Given the description of an element on the screen output the (x, y) to click on. 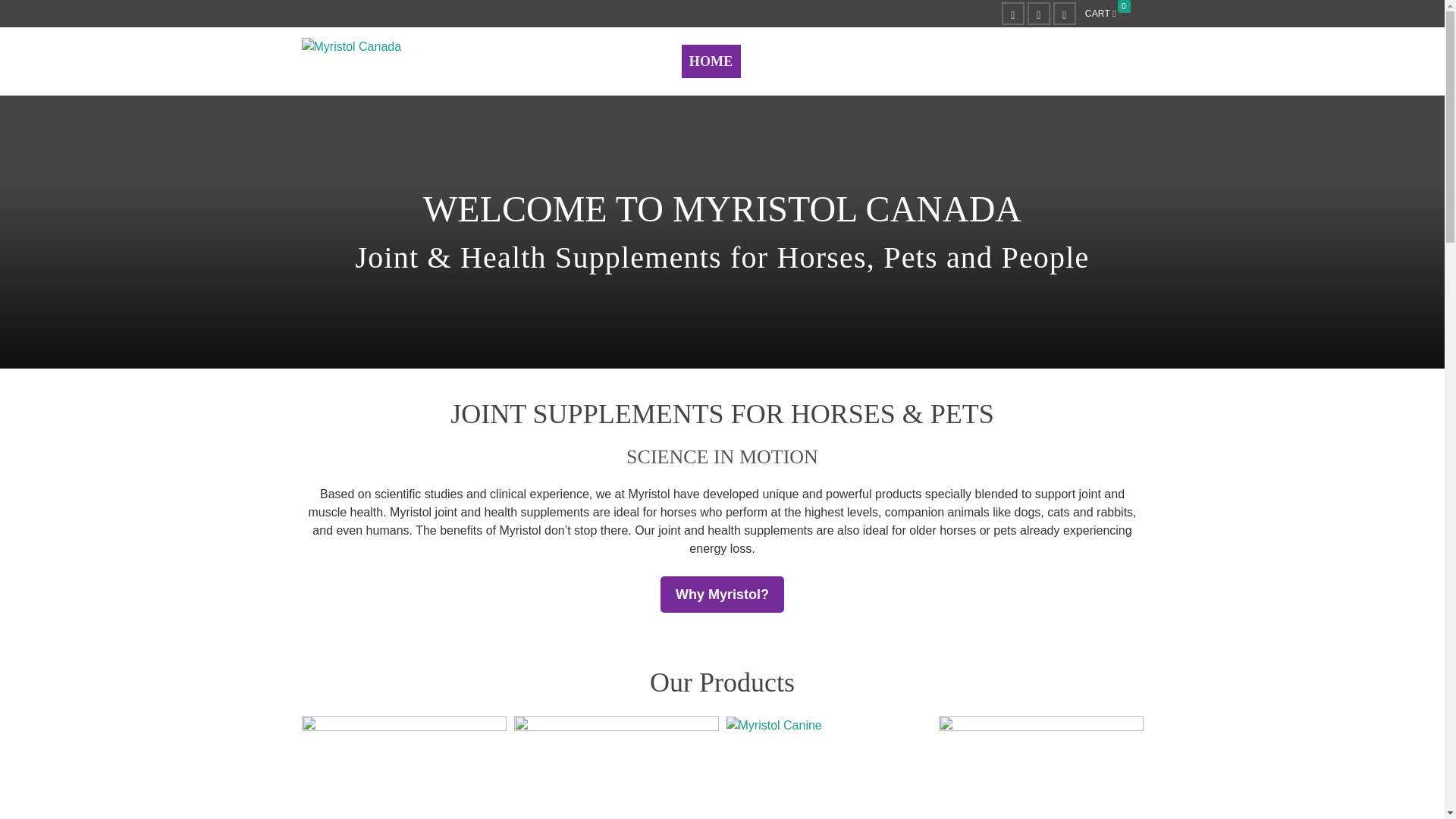
SHOP (965, 61)
Why Myristol? (722, 594)
PETS (836, 61)
HORSES (776, 61)
INFO (1028, 61)
CART 0 (1109, 13)
CONTACT (1100, 61)
PEOPLE (897, 61)
HOME (711, 61)
